Given the description of an element on the screen output the (x, y) to click on. 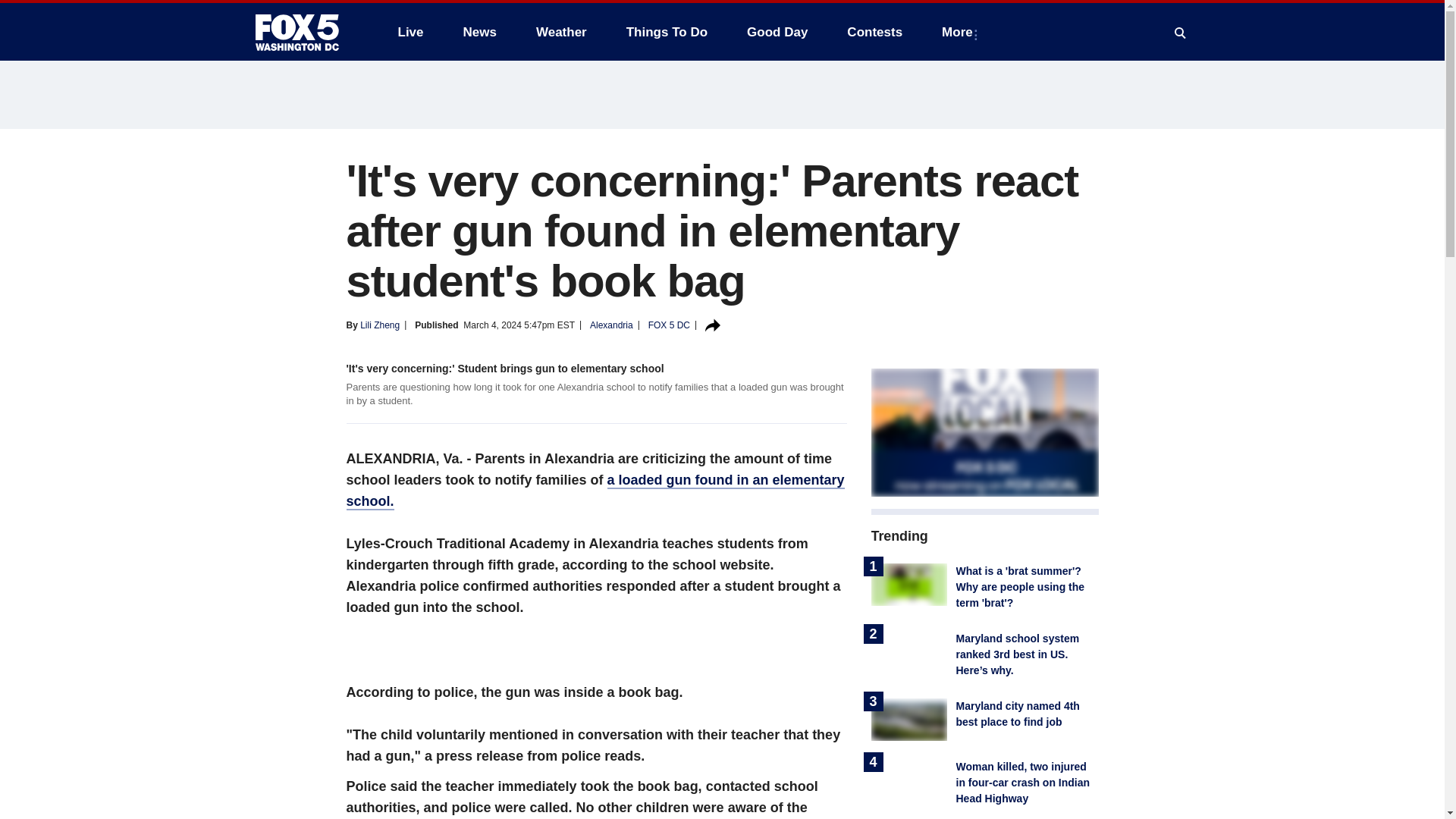
News (479, 32)
Good Day (777, 32)
Contests (874, 32)
Things To Do (666, 32)
Weather (561, 32)
Live (410, 32)
More (960, 32)
